Given the description of an element on the screen output the (x, y) to click on. 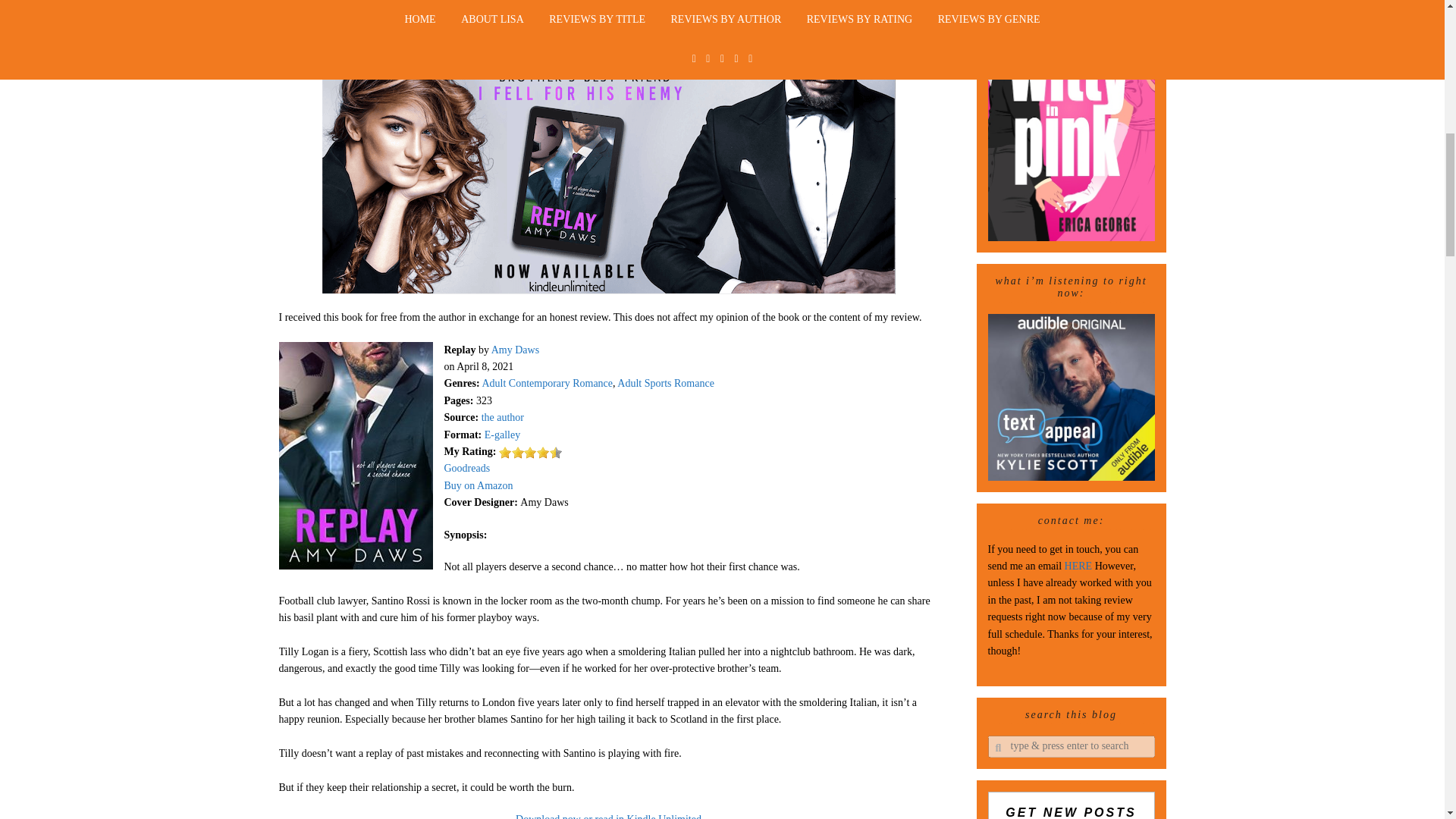
Download now or read in Kindle Unlimited (608, 816)
Amy Daws (515, 349)
the author (502, 417)
Buy on Amazon (478, 485)
E-galley (501, 434)
Goodreads (467, 468)
Adult Contemporary Romance (546, 383)
Adult Sports Romance (665, 383)
